Given the description of an element on the screen output the (x, y) to click on. 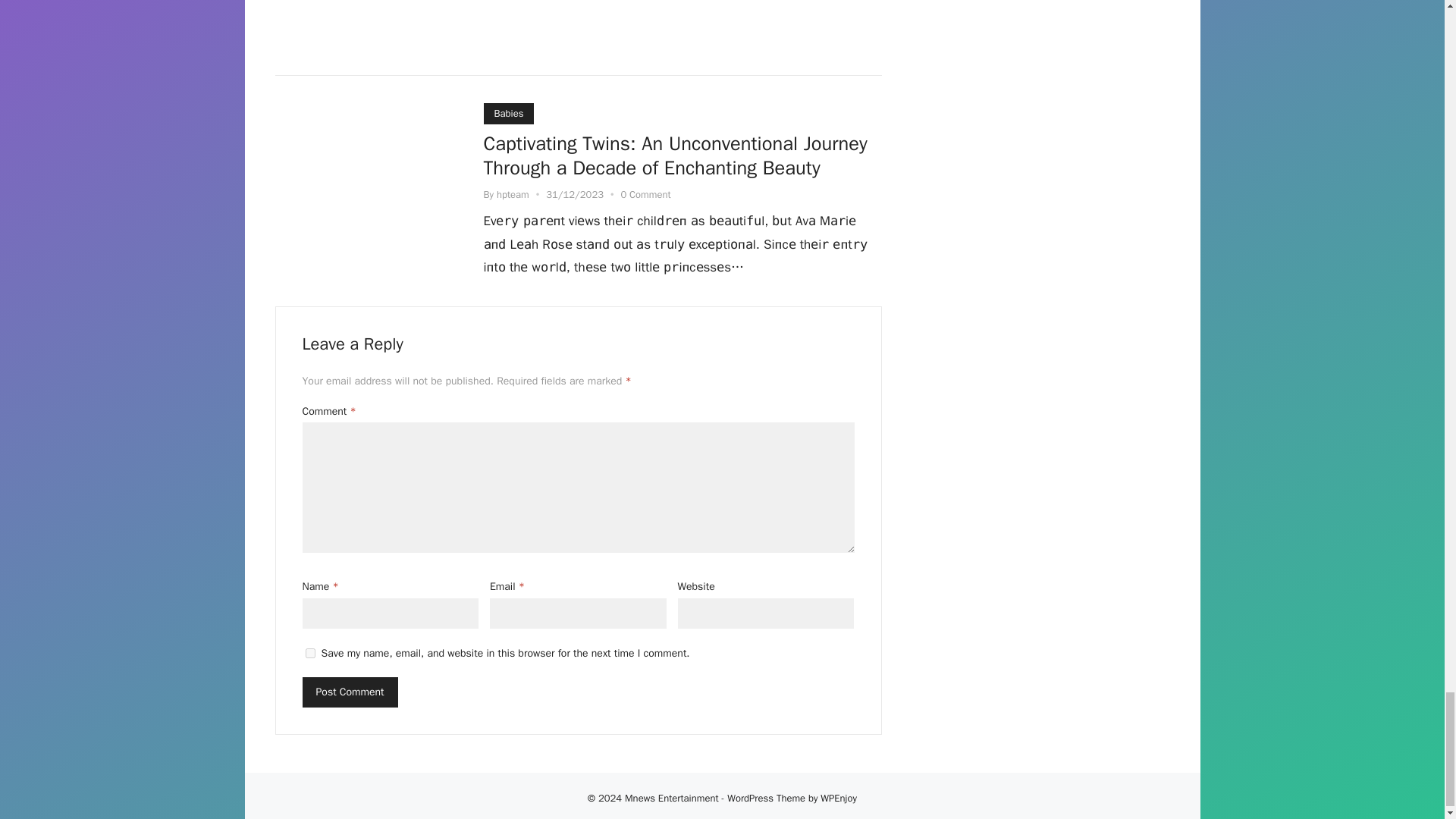
yes (309, 653)
Post Comment (349, 692)
Posts by hpteam (512, 194)
